Given the description of an element on the screen output the (x, y) to click on. 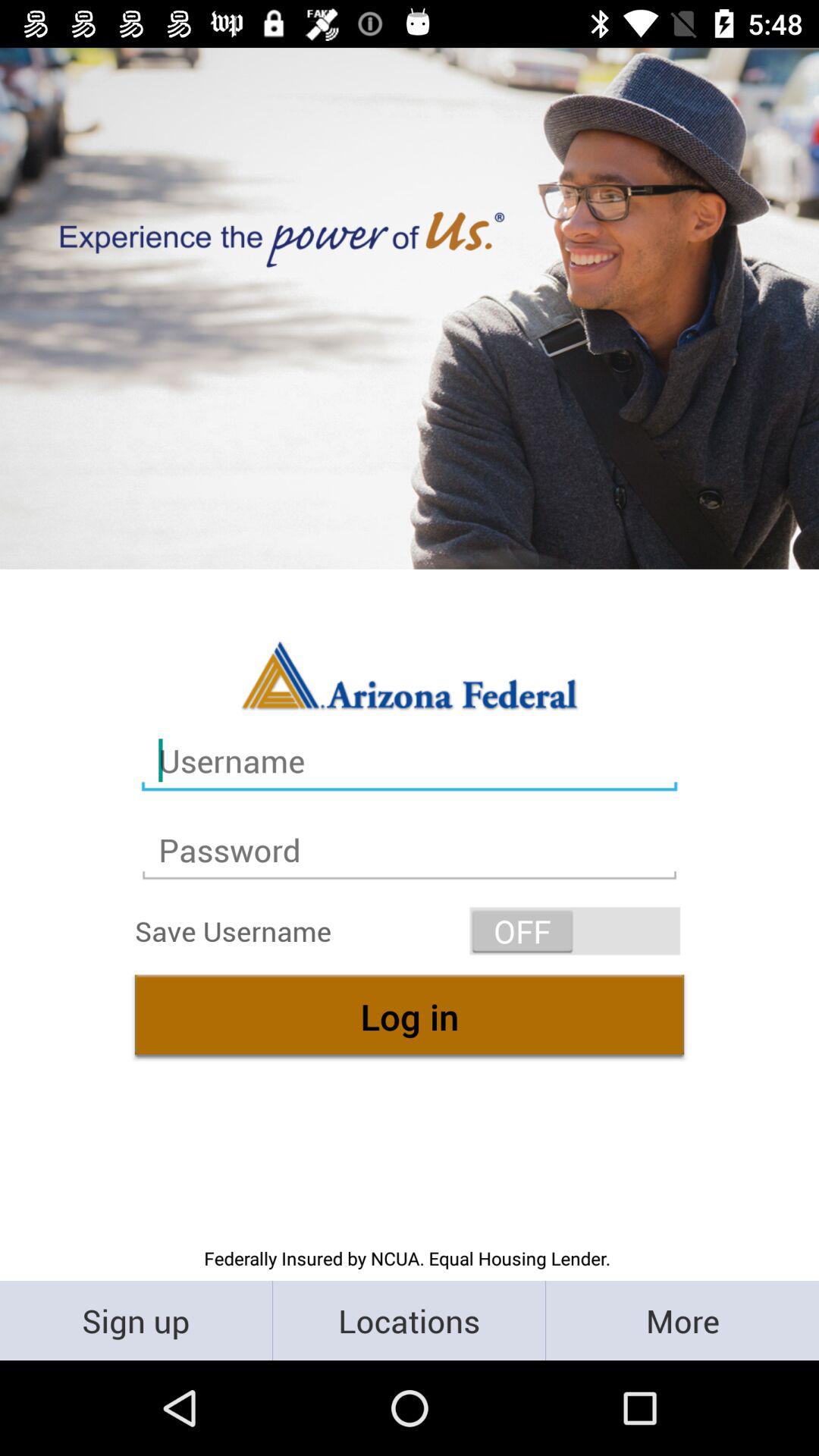
open the item to the right of the sign up item (409, 1320)
